Given the description of an element on the screen output the (x, y) to click on. 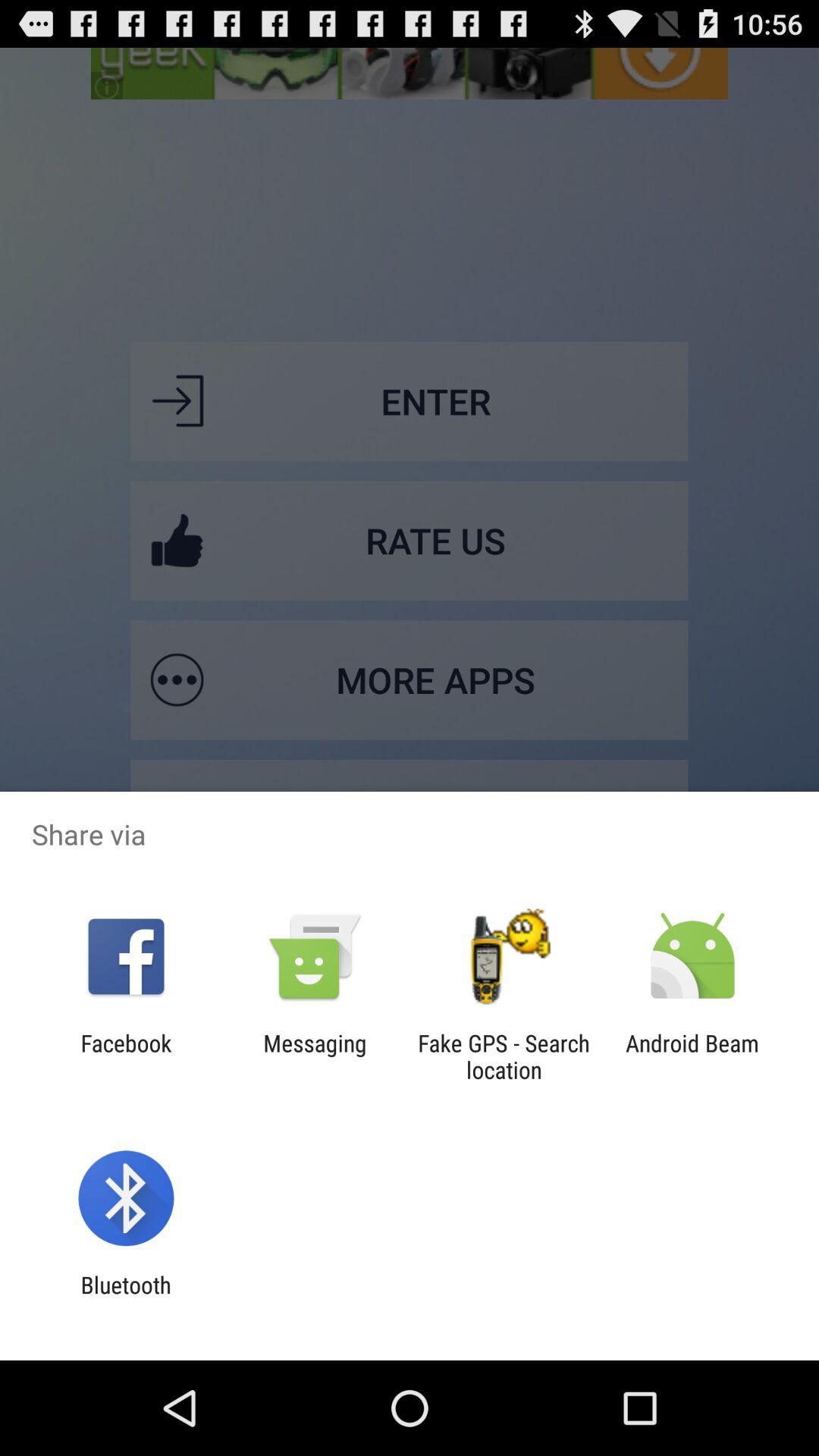
tap item next to the android beam app (503, 1056)
